Given the description of an element on the screen output the (x, y) to click on. 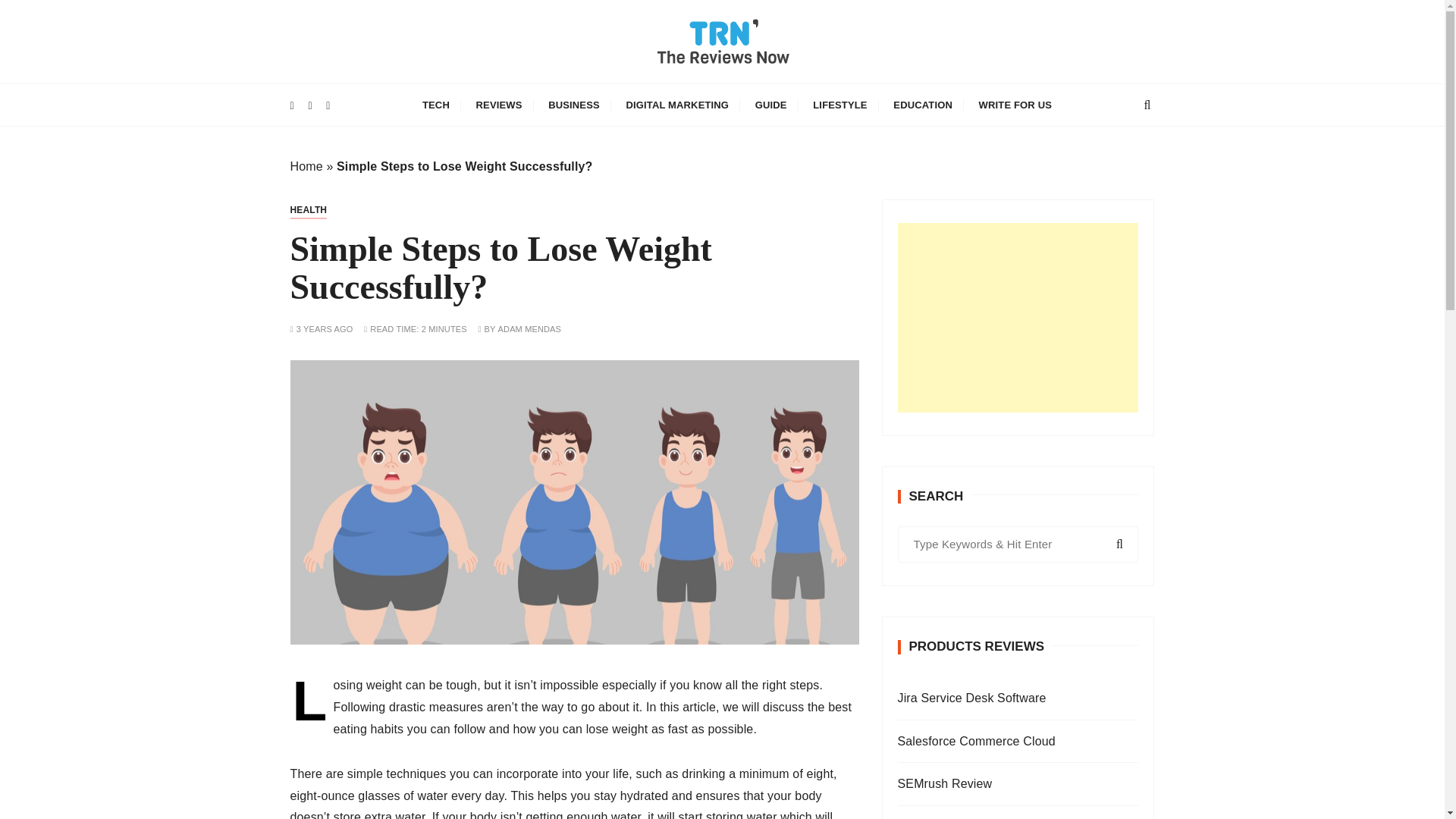
BUSINESS (574, 105)
ADAM MENDAS (529, 329)
Home (305, 165)
DIGITAL MARKETING (676, 105)
GUIDE (770, 105)
Jira Service Desk Software (1018, 698)
WRITE FOR US (1015, 105)
Advertisement (1018, 317)
TECH (435, 105)
HEALTH (307, 209)
REVIEWS (499, 105)
EDUCATION (922, 105)
LIFESTYLE (839, 105)
